Given the description of an element on the screen output the (x, y) to click on. 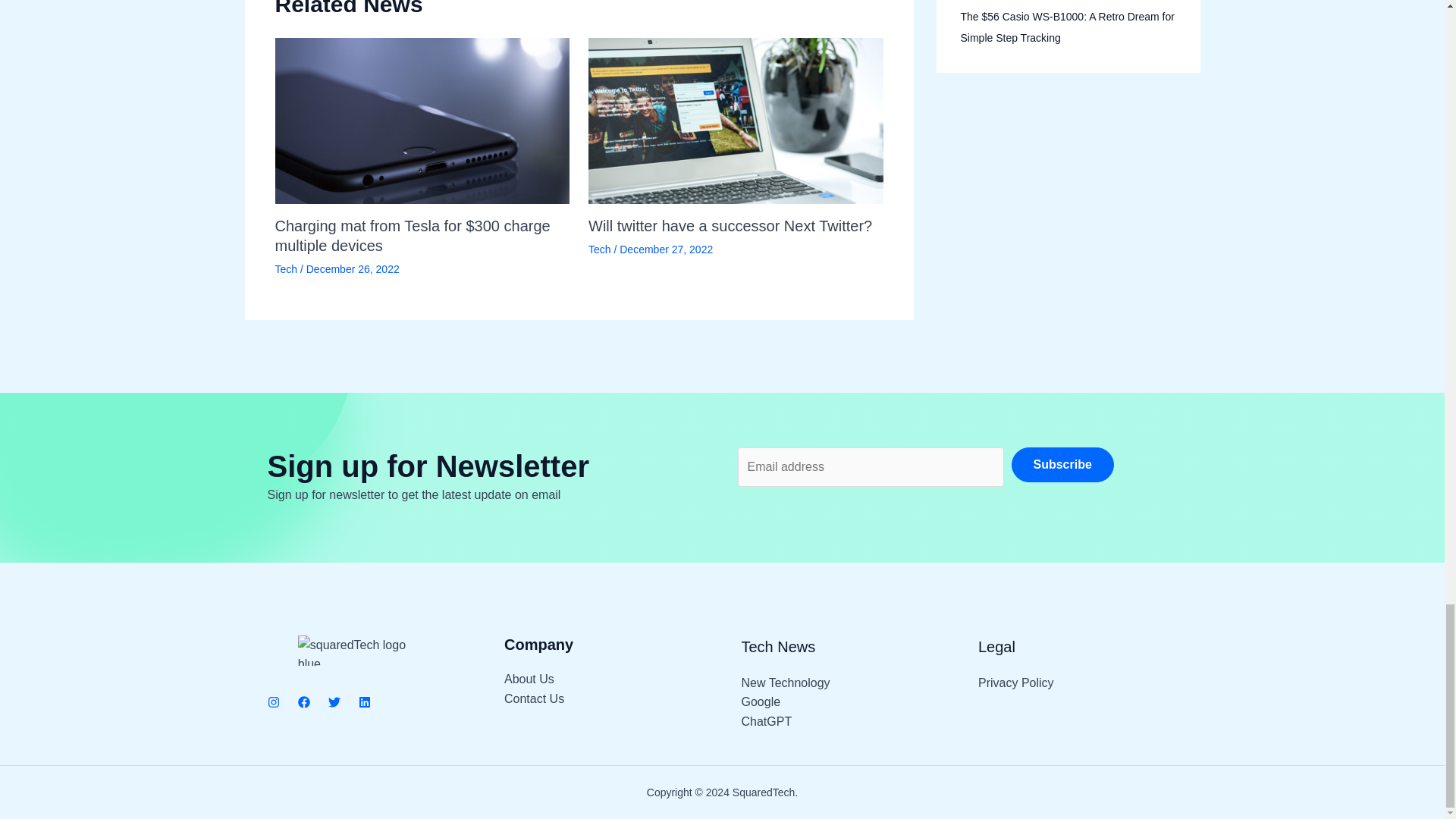
cropped-SquaredTech-logo.png (361, 650)
Tech (599, 249)
Will twitter have a successor Next Twitter? (730, 225)
Tech (286, 268)
